Given the description of an element on the screen output the (x, y) to click on. 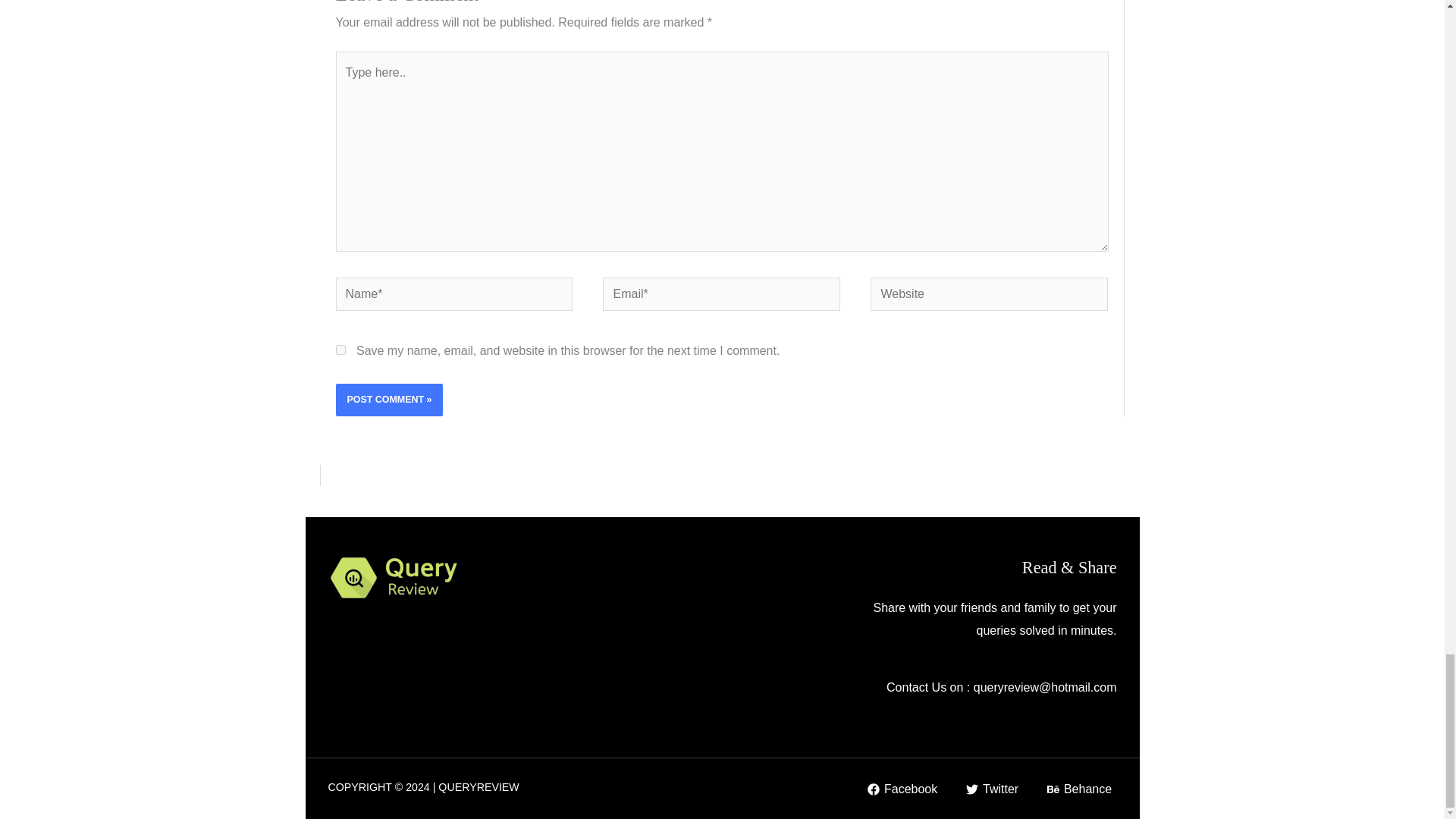
yes (339, 349)
